Given the description of an element on the screen output the (x, y) to click on. 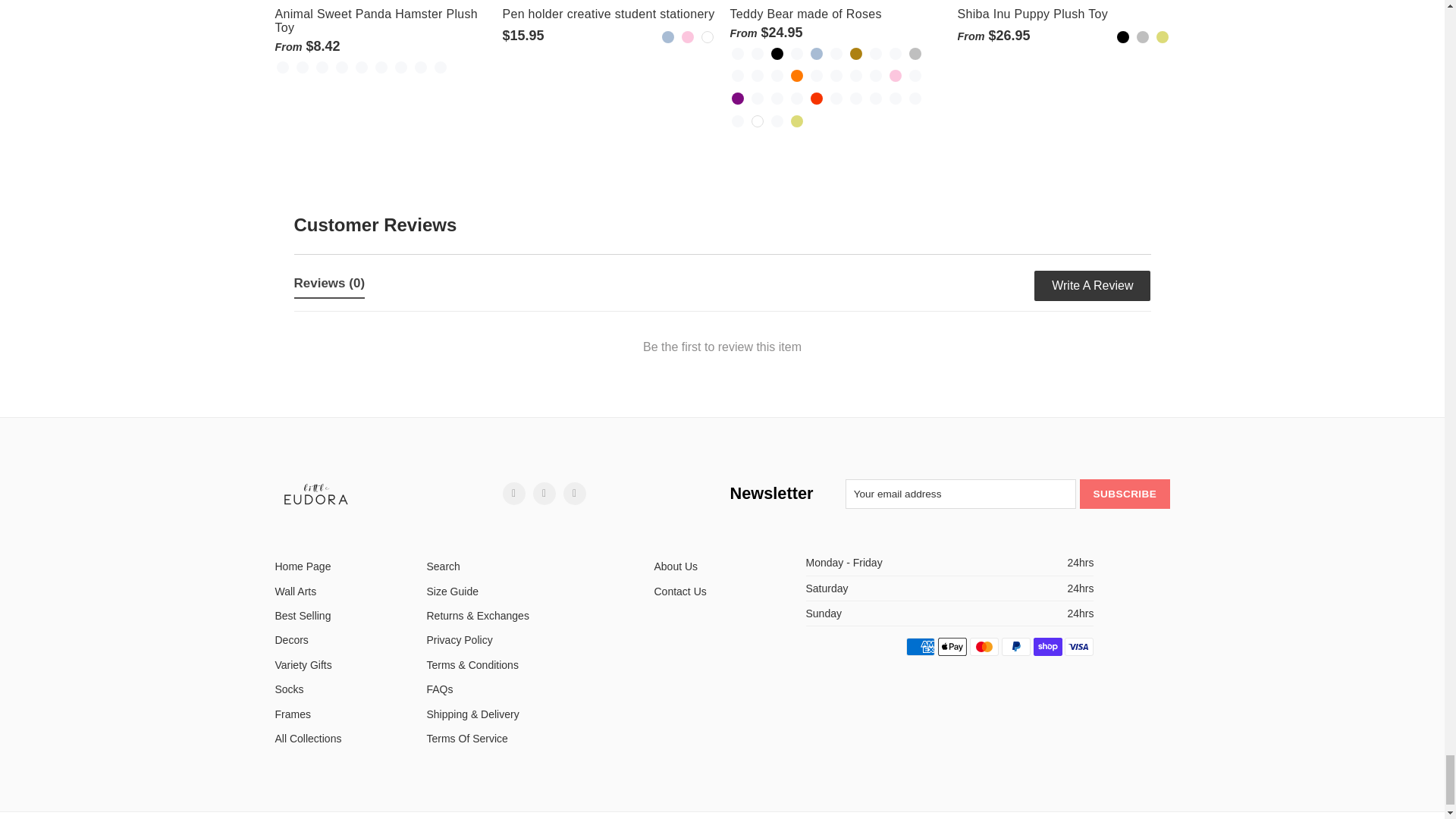
Shop Pay (1047, 647)
Be the first to review this item (722, 351)
American Express (919, 647)
SUBSCRIBE (1124, 493)
PayPal (1015, 647)
Mastercard (983, 647)
Visa (1078, 647)
Be the first to review this item (722, 351)
Apple Pay (951, 647)
